Given the description of an element on the screen output the (x, y) to click on. 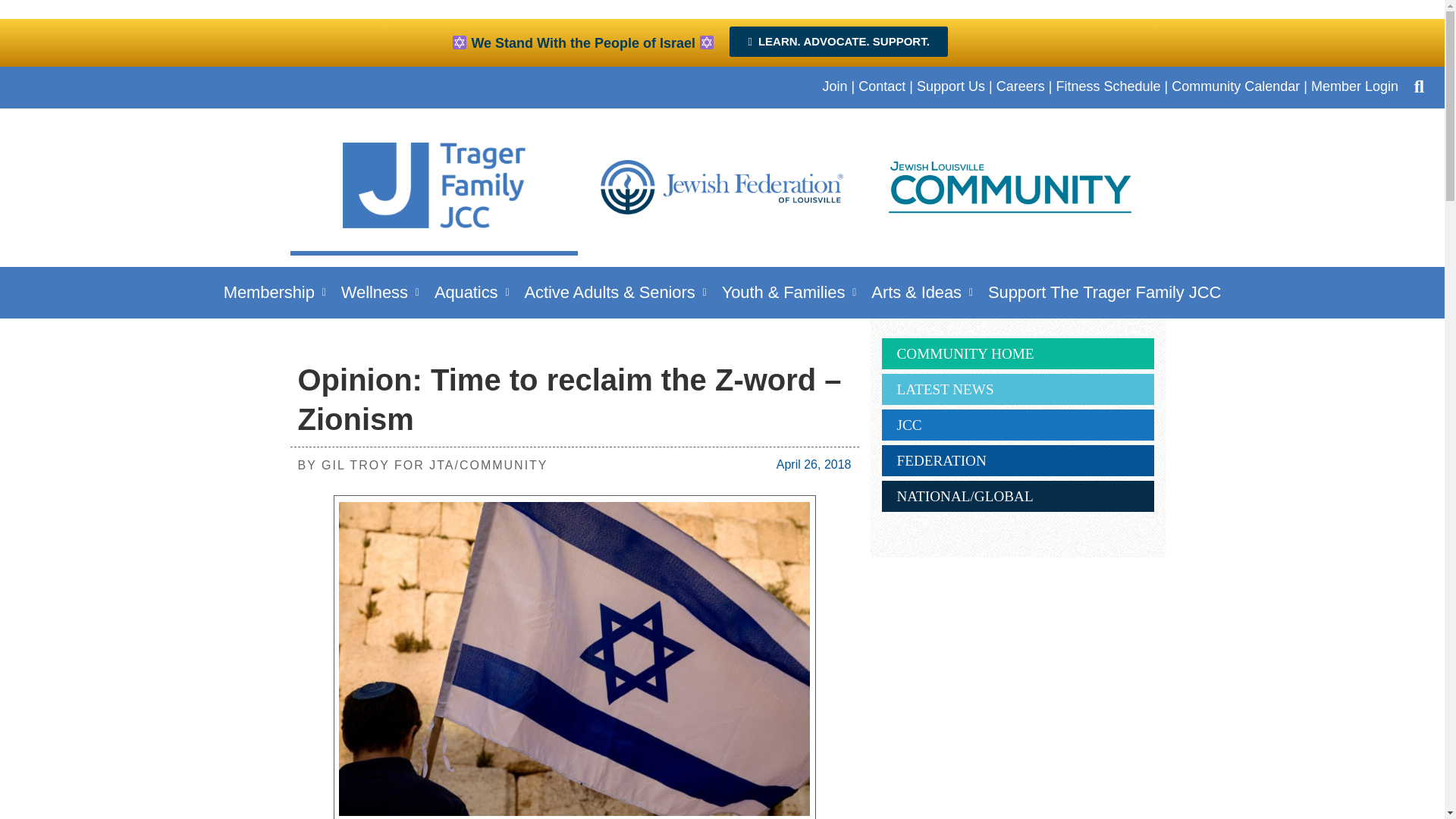
LEARN. ADVOCATE. SUPPORT. (838, 41)
Contact (882, 86)
Support Us (951, 86)
Fitness Schedule (1107, 86)
Aquatics (471, 292)
Membership (274, 292)
Careers (1020, 86)
Member Login (1354, 86)
Wellness (379, 292)
Join (834, 86)
Community Calendar (1236, 86)
12:11 pm (813, 464)
